Given the description of an element on the screen output the (x, y) to click on. 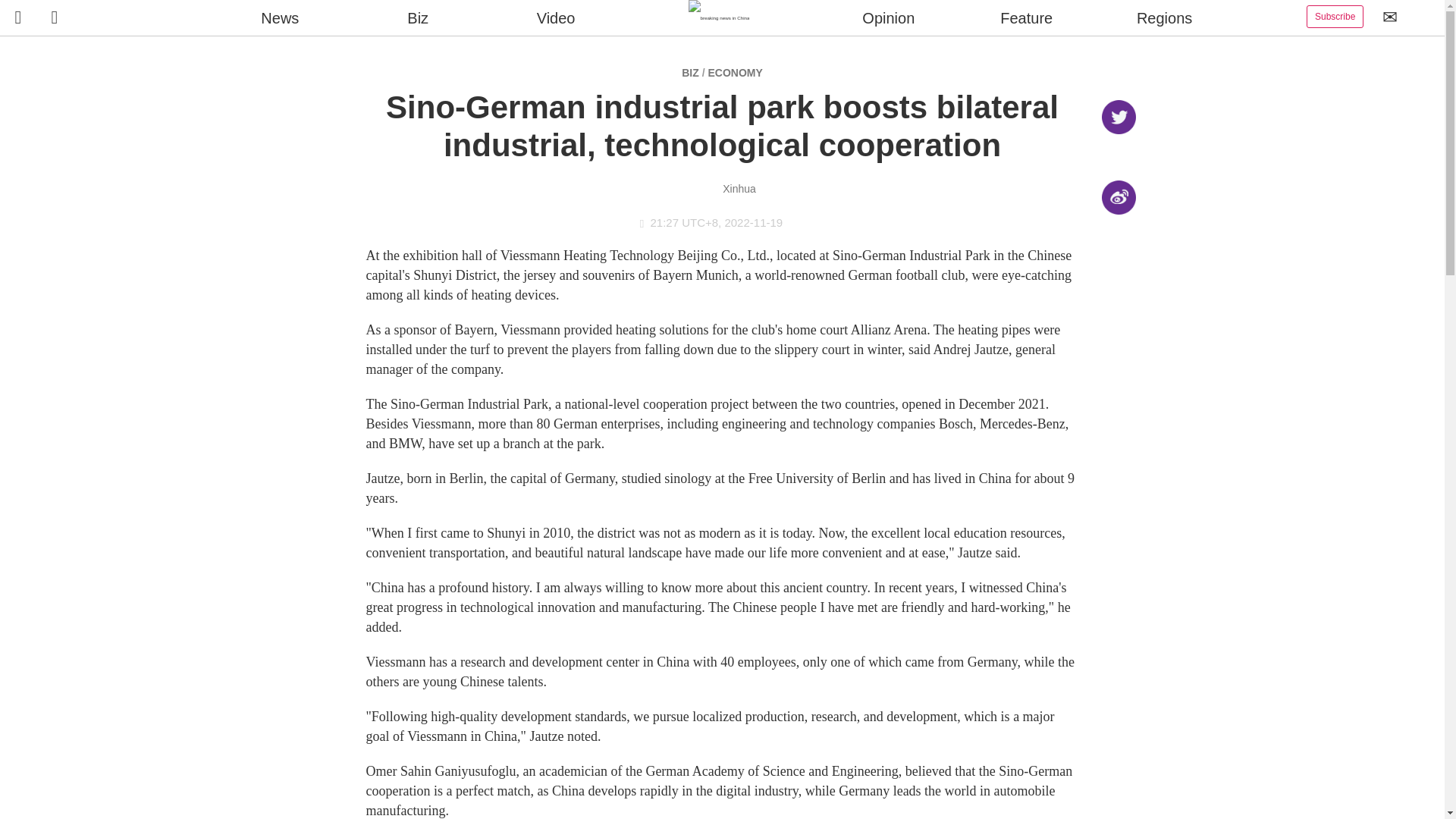
Add to favorites (1117, 277)
Share your comments (1117, 317)
BIZ (689, 72)
Share via email (1117, 237)
ECONOMY (734, 72)
